Given the description of an element on the screen output the (x, y) to click on. 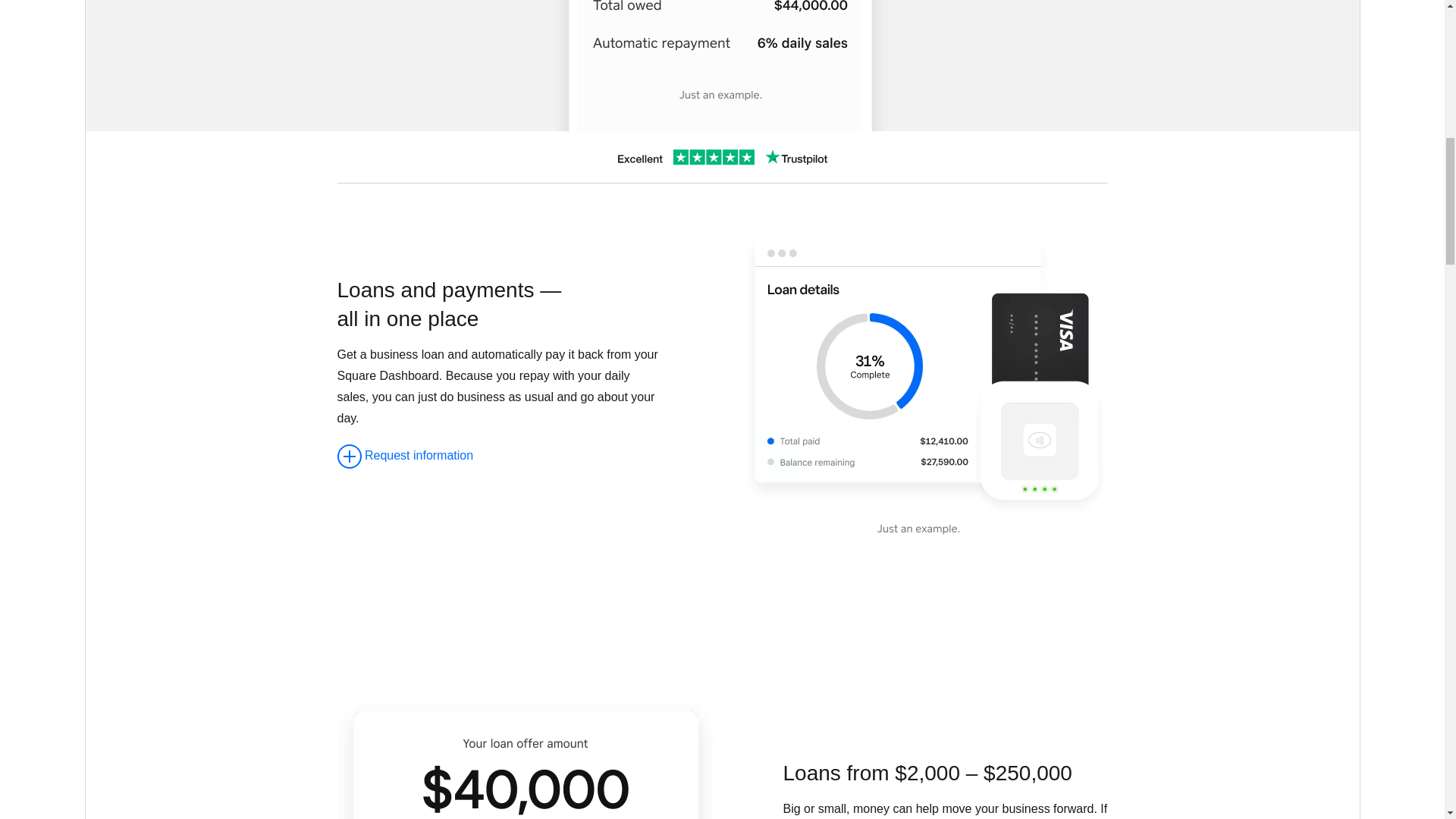
Request information (404, 454)
